Given the description of an element on the screen output the (x, y) to click on. 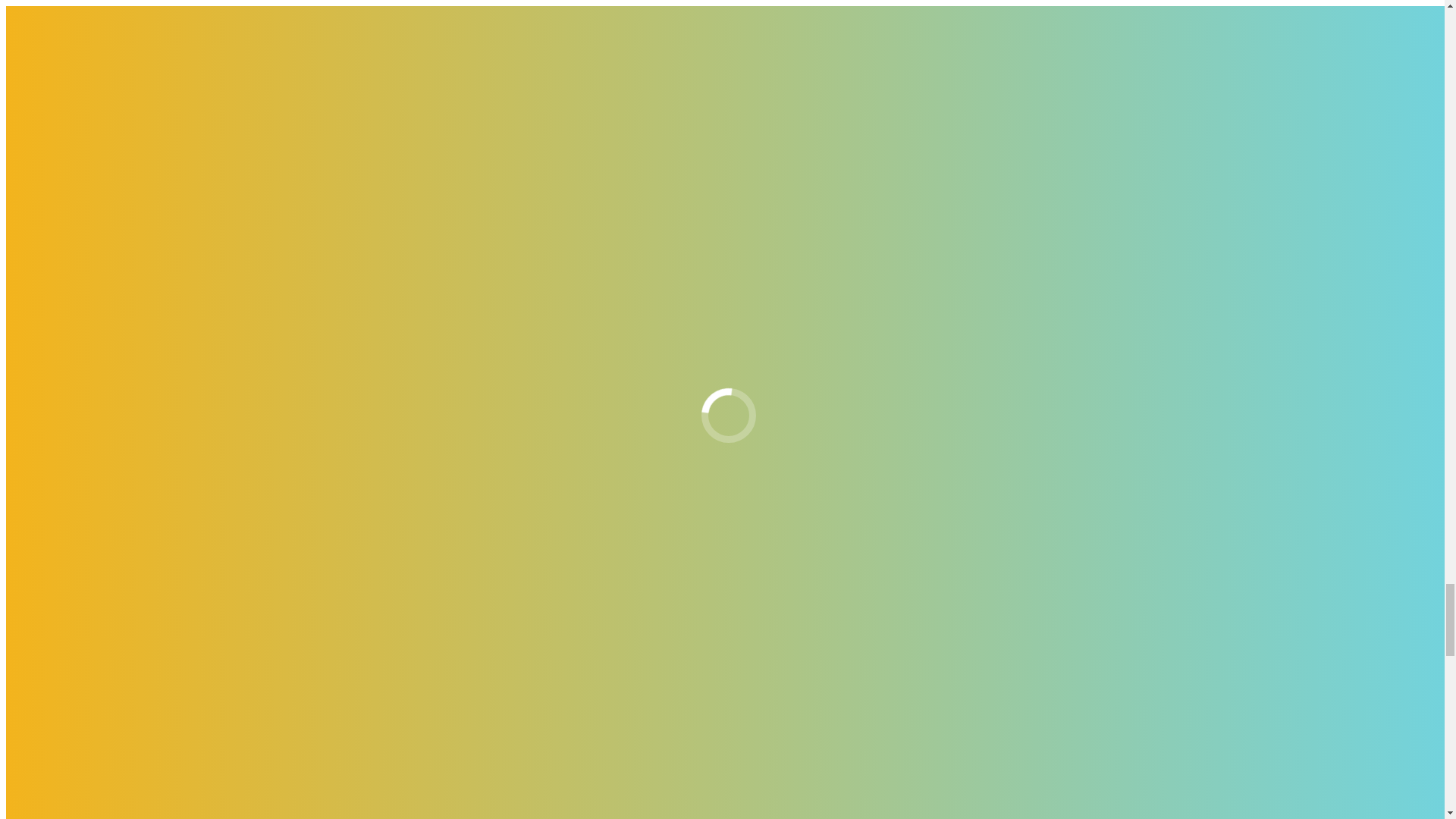
yes (13, 187)
Sign up (28, 635)
Post Comment (44, 215)
